Given the description of an element on the screen output the (x, y) to click on. 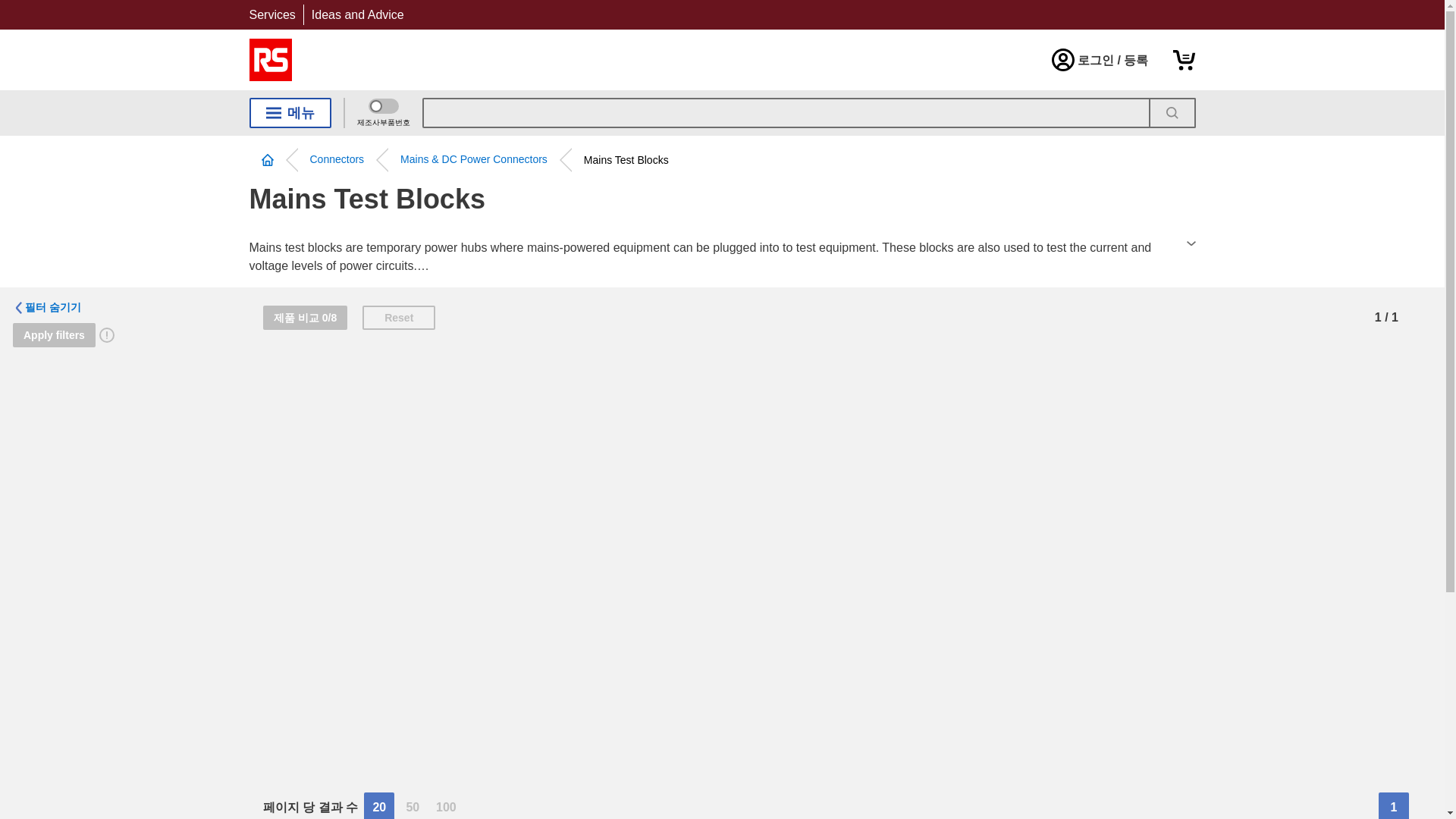
Ideas and Advice (357, 14)
Services (271, 14)
